Given the description of an element on the screen output the (x, y) to click on. 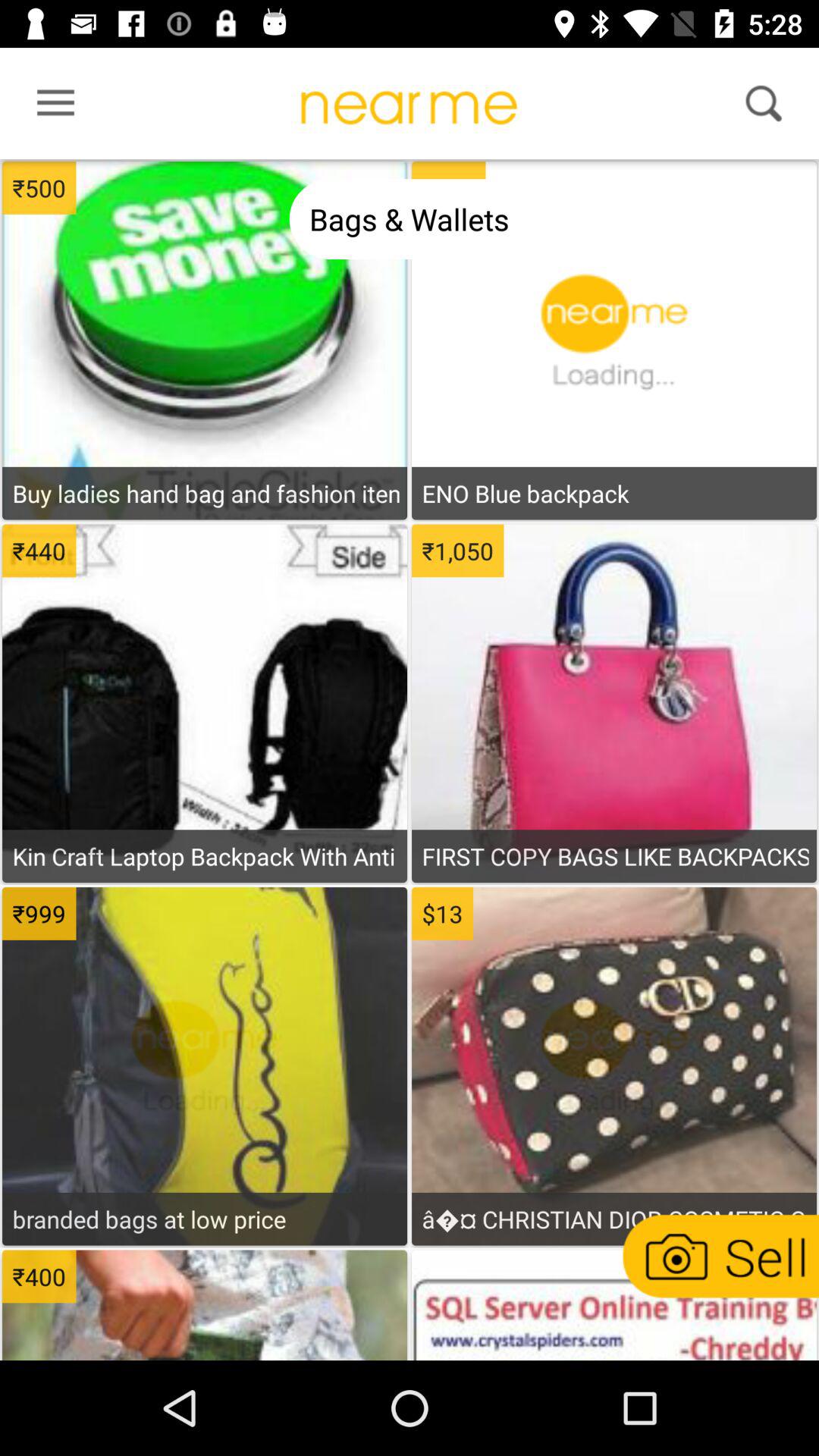
share the article (613, 1307)
